Given the description of an element on the screen output the (x, y) to click on. 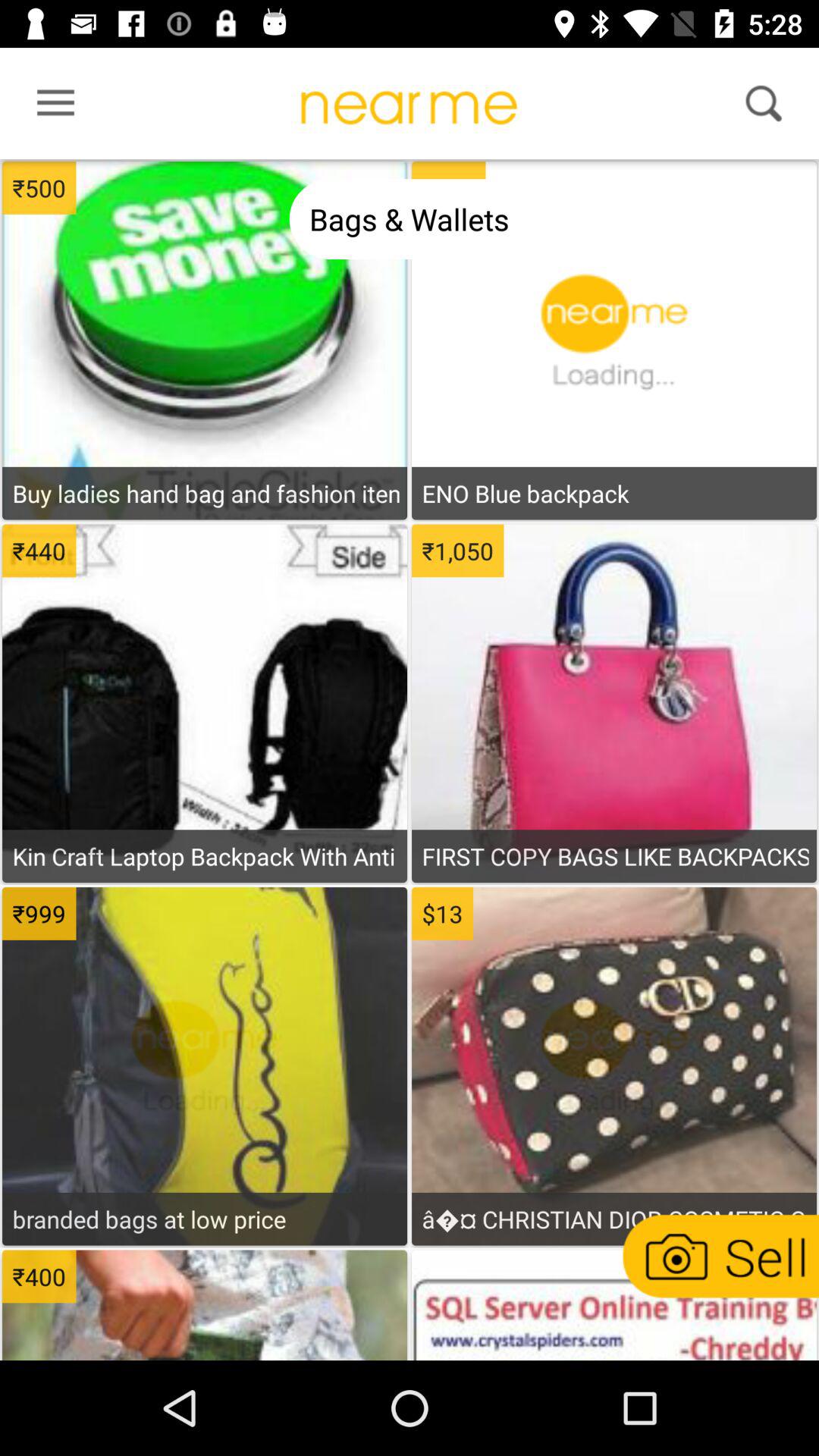
share the article (613, 1307)
